Given the description of an element on the screen output the (x, y) to click on. 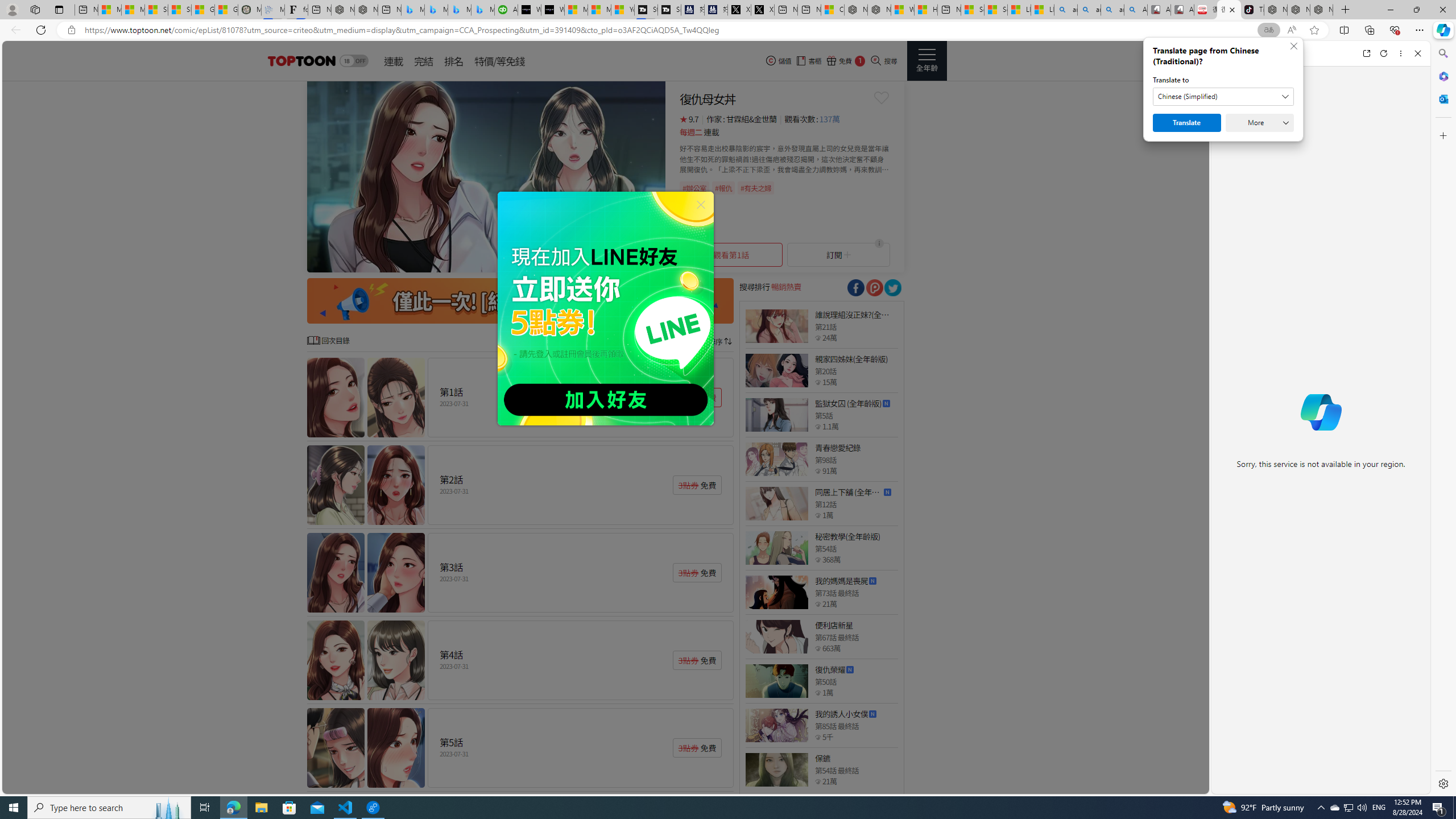
Class: side_menu_btn actionRightMenuBtn (926, 60)
Settings (1442, 783)
amazon - Search (1089, 9)
header (300, 60)
